Given the description of an element on the screen output the (x, y) to click on. 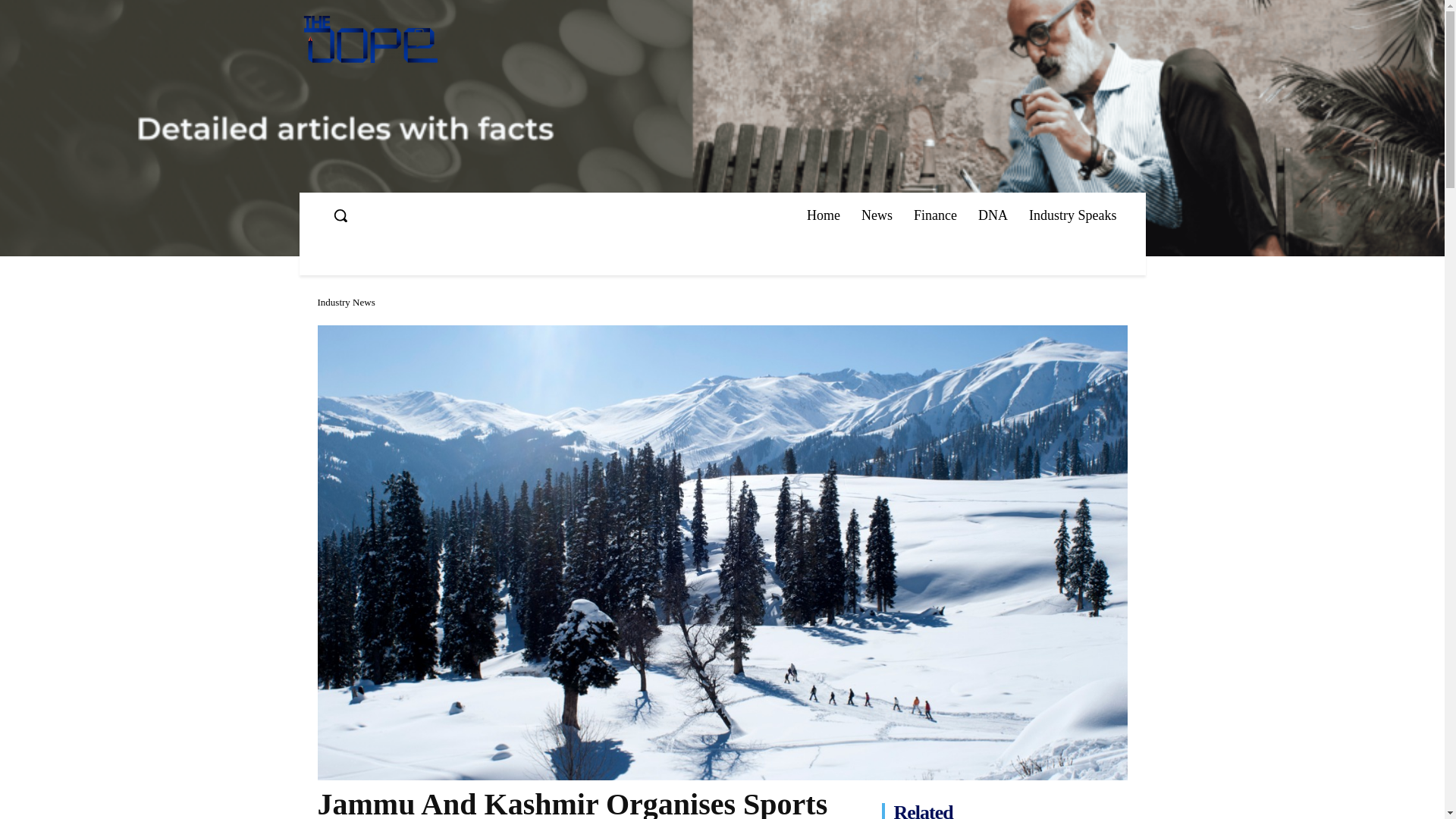
DNA (992, 215)
Finance (935, 215)
News (876, 215)
Home (823, 215)
Industry News (345, 302)
Industry Speaks (1071, 215)
